Given the description of an element on the screen output the (x, y) to click on. 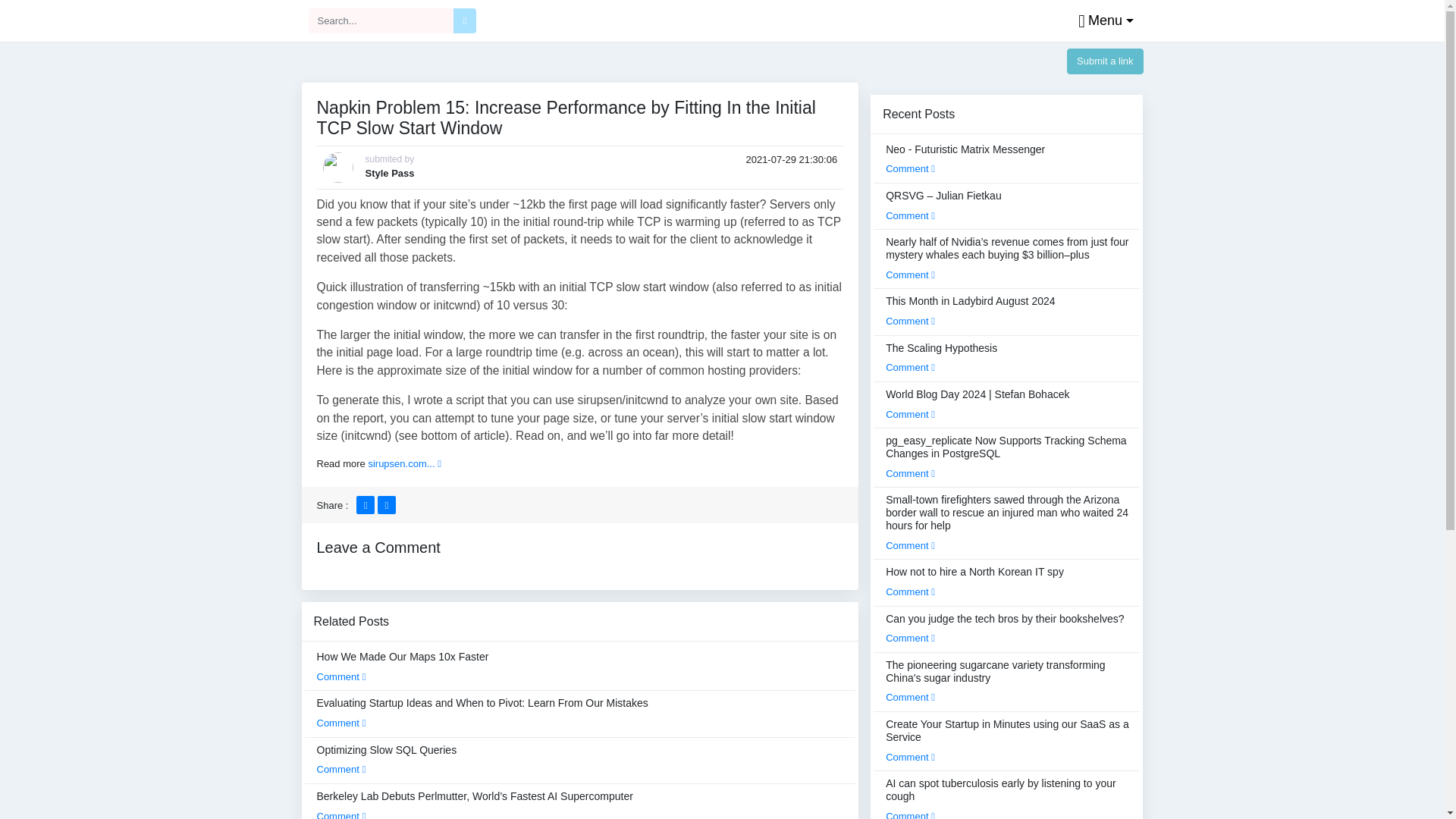
Optimizing Slow SQL Queries (387, 759)
Comment (341, 814)
Comment (341, 768)
How We Made Our Maps 10x Faster (403, 666)
Menu (1101, 20)
sirupsen.com... (404, 463)
Submit a link (1104, 61)
Comment (341, 676)
Comment (341, 722)
